Given the description of an element on the screen output the (x, y) to click on. 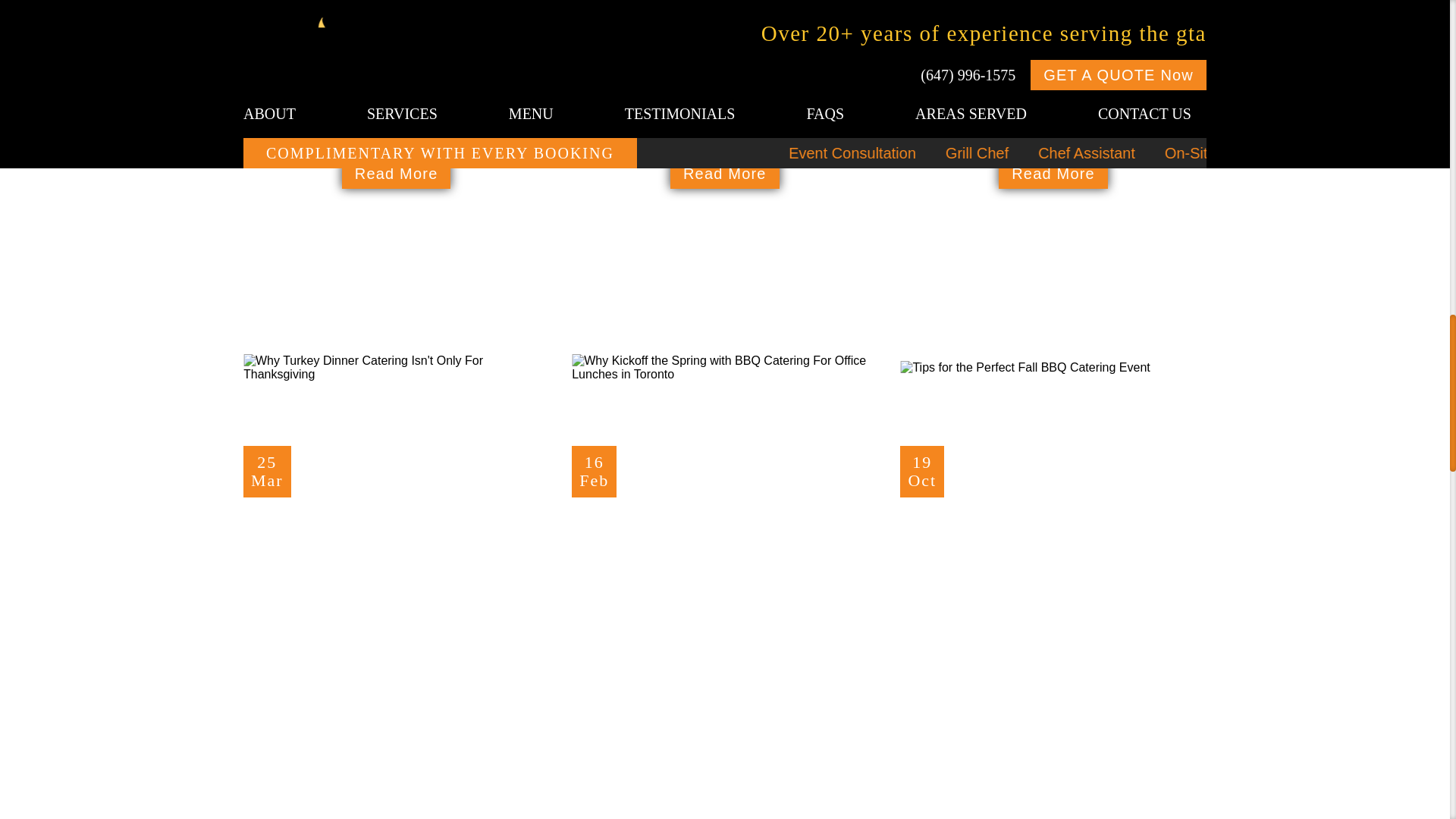
Read More (1053, 173)
office catering in Toronto (1063, 44)
Why Turkey Dinner Catering Isn't Only For Thanksgiving (395, 367)
Read More (395, 537)
Read More (723, 173)
